Given the description of an element on the screen output the (x, y) to click on. 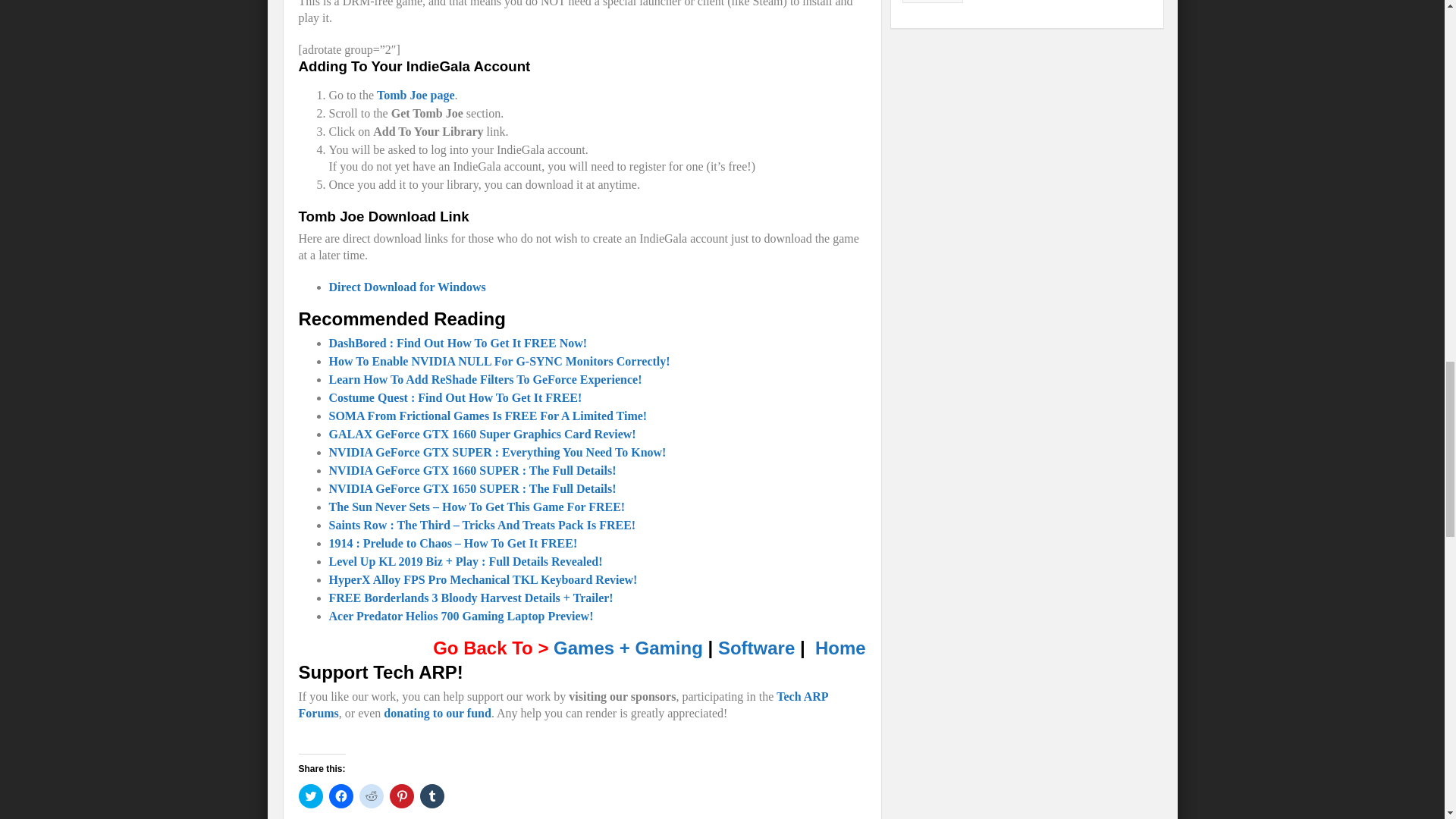
Click to share on Twitter (310, 795)
Click to share on Tumblr (432, 795)
Click to share on Reddit (371, 795)
Click to share on Pinterest (401, 795)
Click to share on Facebook (341, 795)
